Given the description of an element on the screen output the (x, y) to click on. 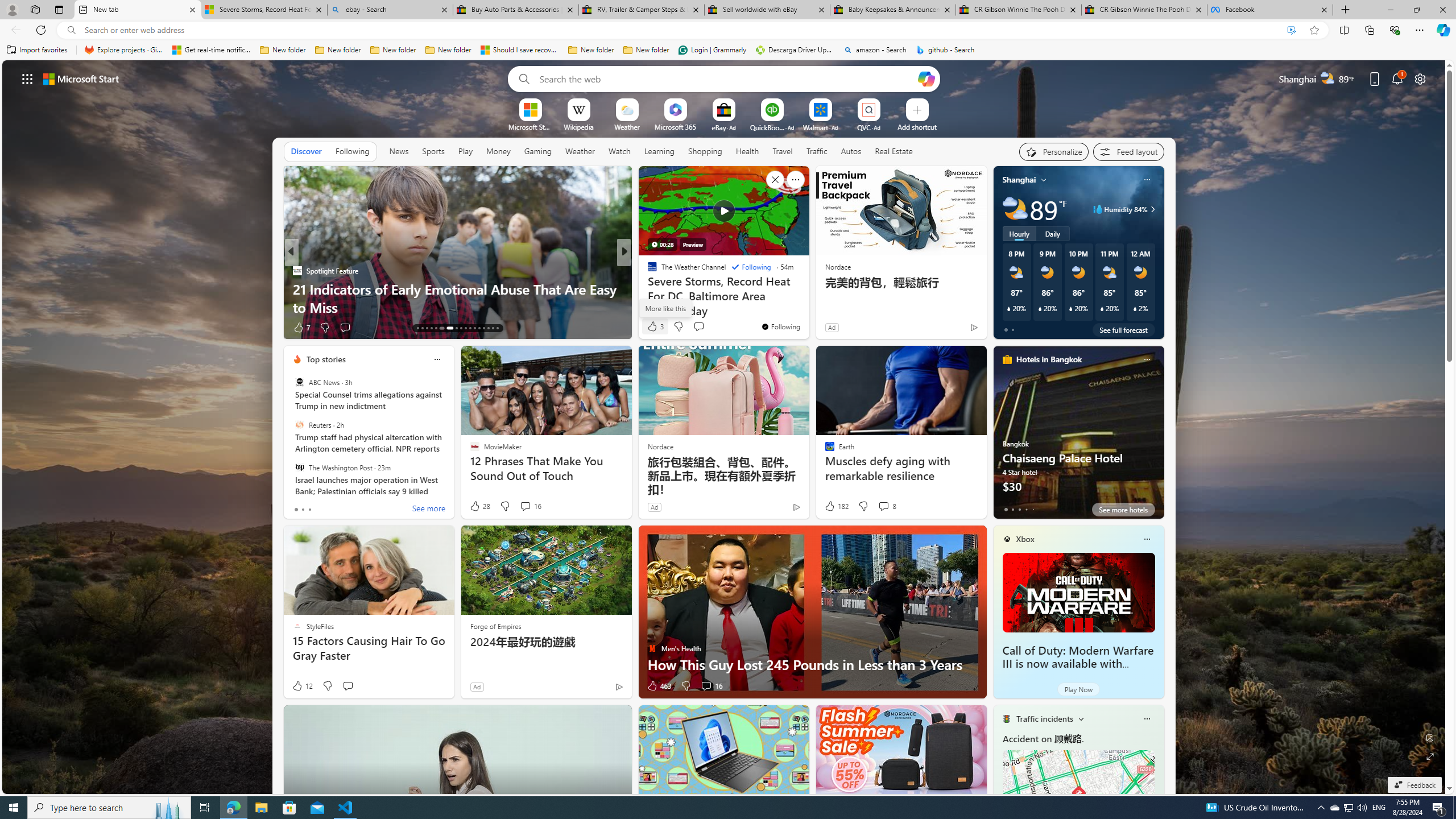
AutomationID: tab-26 (483, 328)
Descarga Driver Updater (794, 49)
182 Like (835, 505)
Humidity 84% (1150, 208)
Simply More Time (647, 288)
github - Search (945, 49)
116 Like (654, 327)
